Given the description of an element on the screen output the (x, y) to click on. 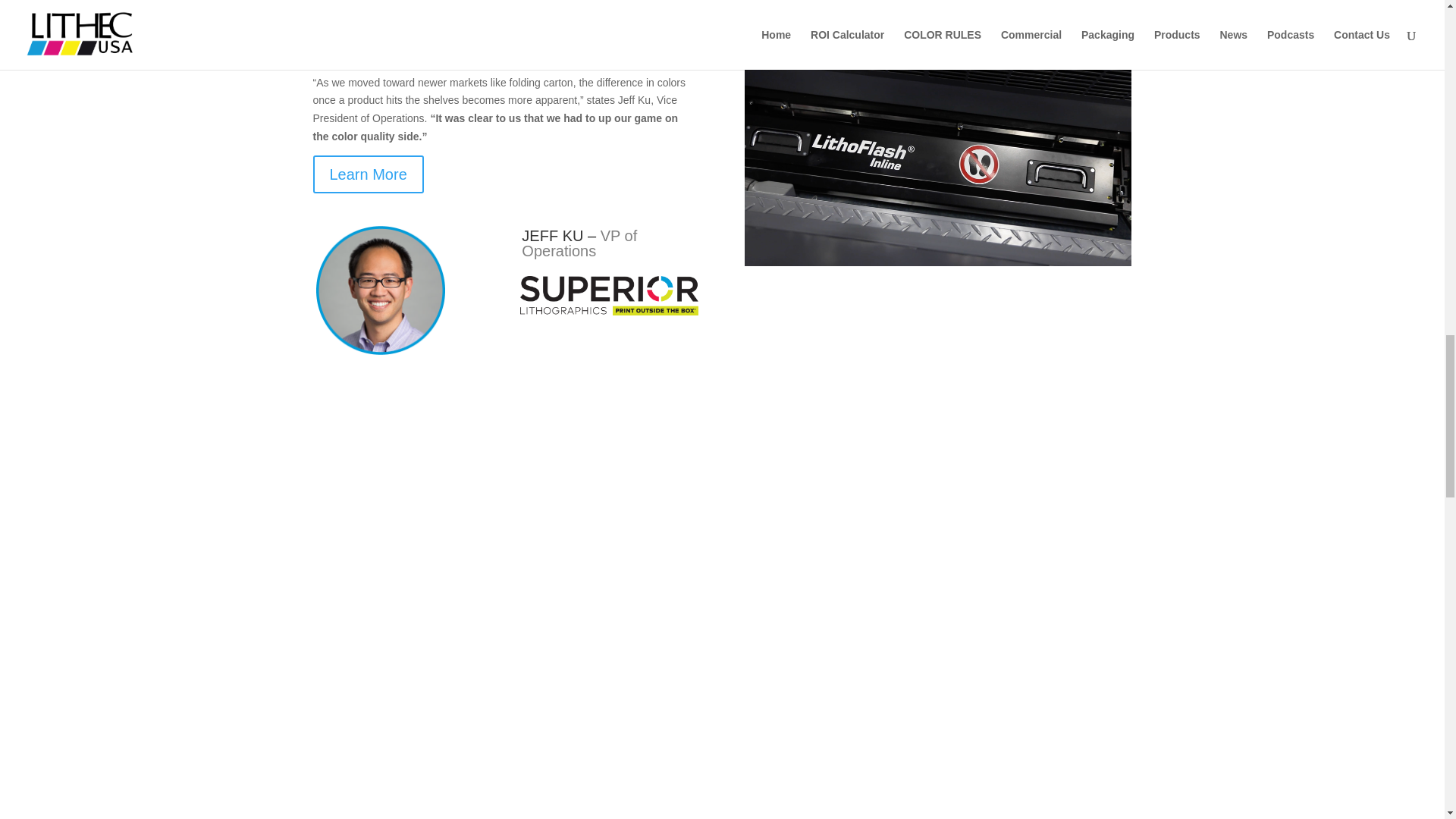
jeff-ku-circle2 (379, 290)
Learn More (368, 174)
